Given the description of an element on the screen output the (x, y) to click on. 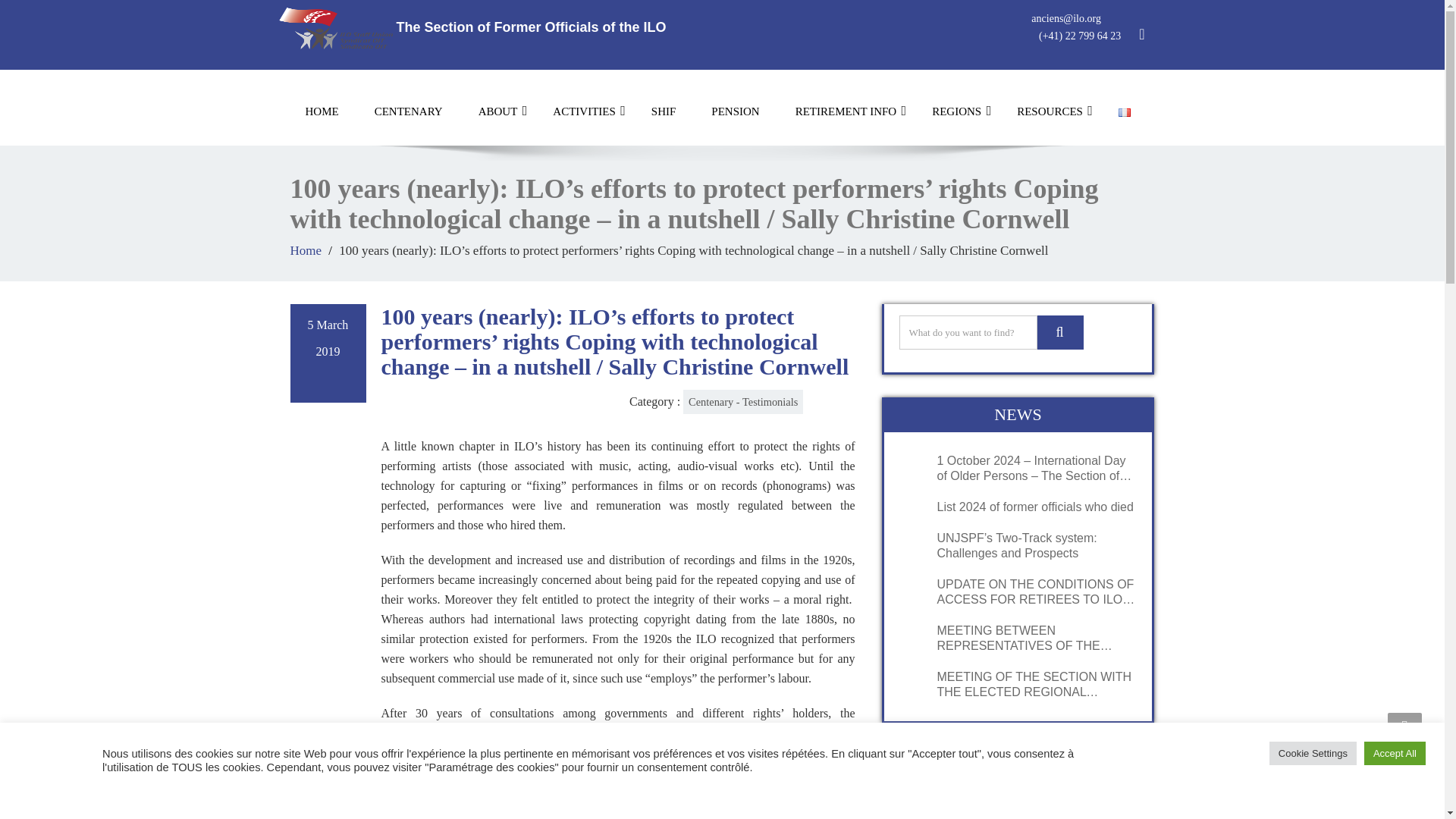
CENTENARY (408, 111)
ACTIVITIES (583, 111)
ABOUT (497, 111)
HOME (321, 111)
ILO Former Officials (472, 27)
The Section of Former Officials of the ILO (472, 27)
